Given the description of an element on the screen output the (x, y) to click on. 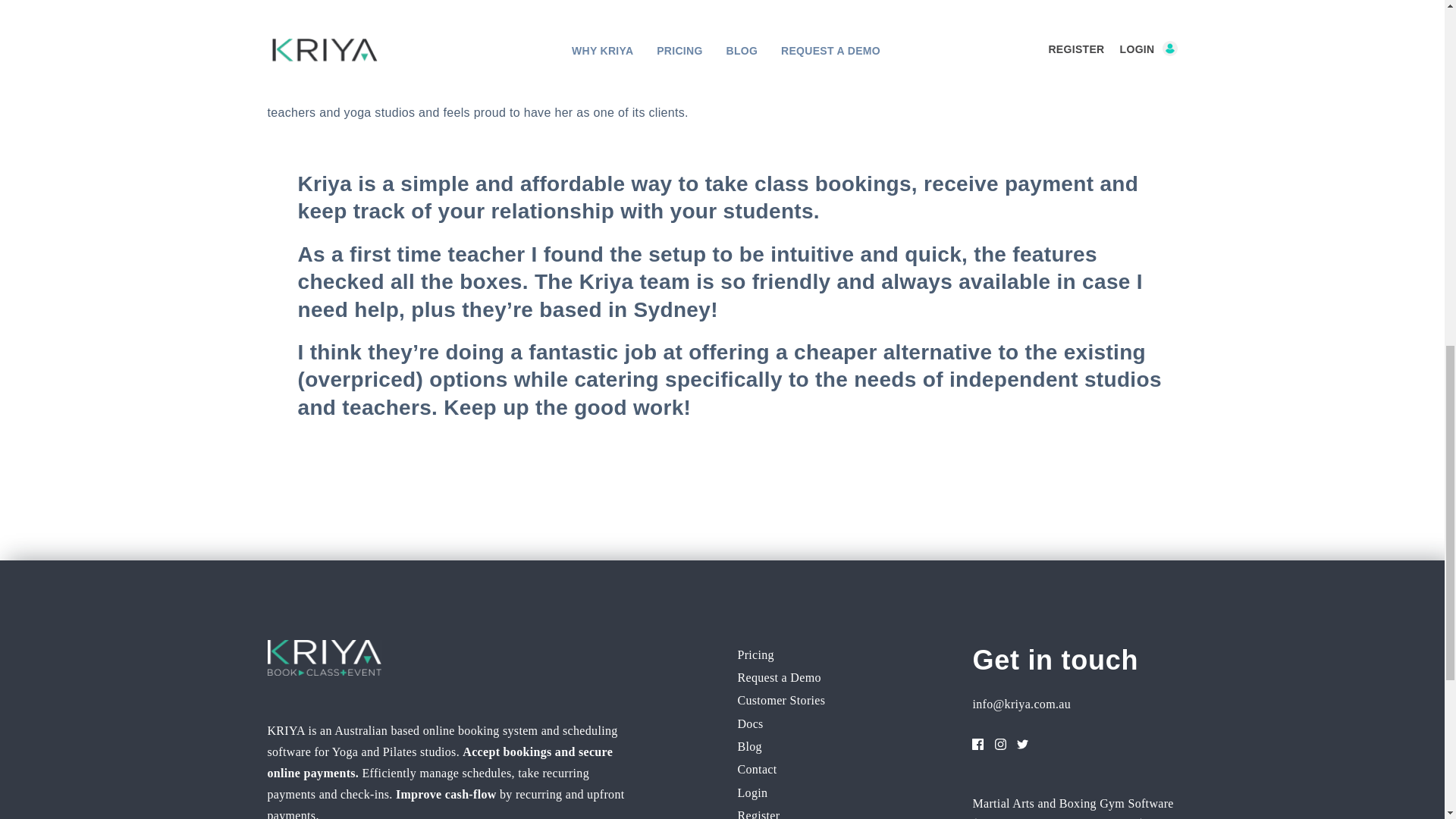
Docs (749, 723)
Login (751, 792)
Contact (756, 769)
Request a Demo (778, 677)
Register (757, 812)
Customer Stories (780, 700)
Pricing (754, 655)
Blog (748, 746)
